Given the description of an element on the screen output the (x, y) to click on. 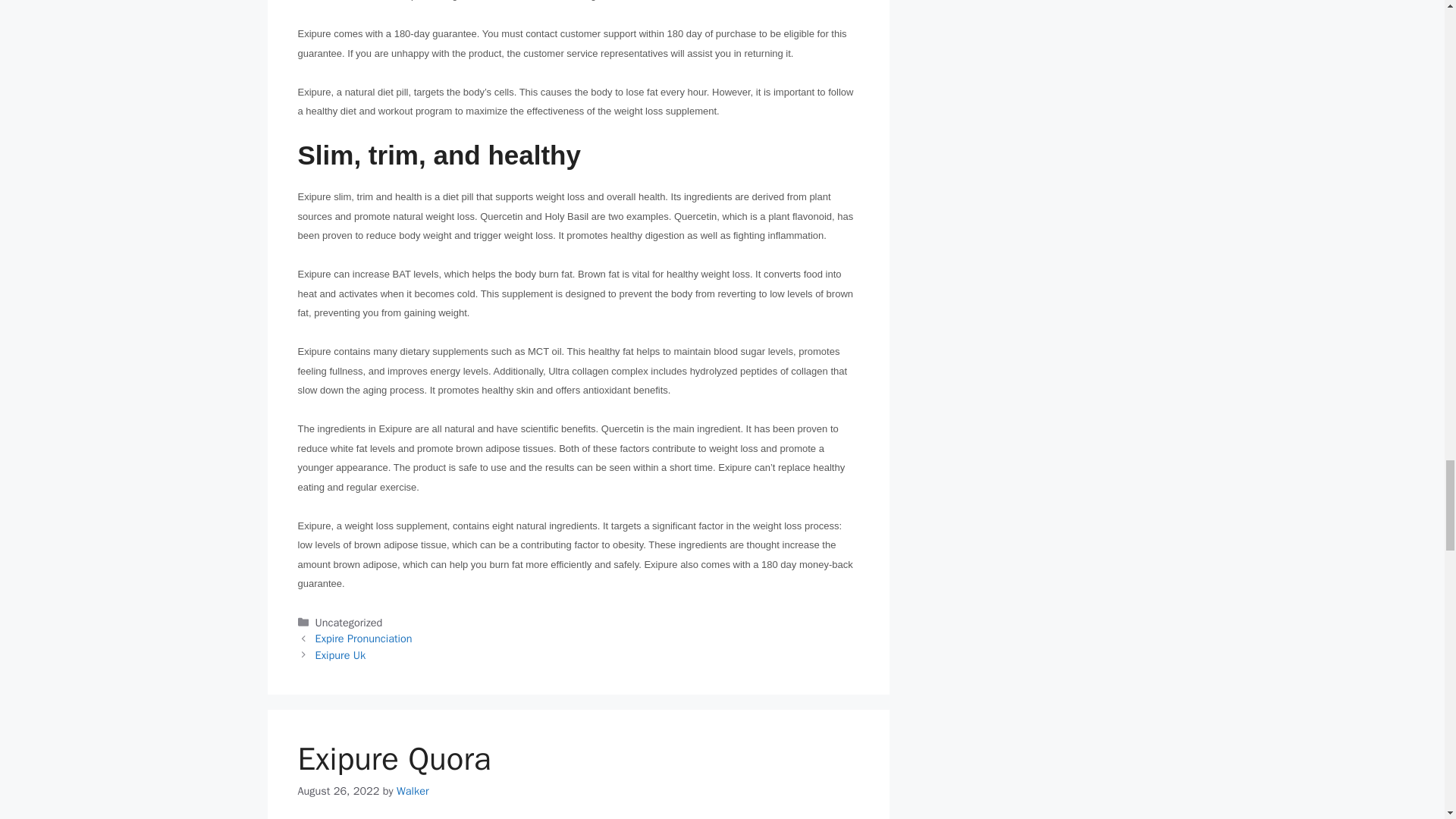
Exipure Uk (340, 654)
Walker (412, 790)
Expire Pronunciation (363, 638)
View all posts by Walker (412, 790)
